Given the description of an element on the screen output the (x, y) to click on. 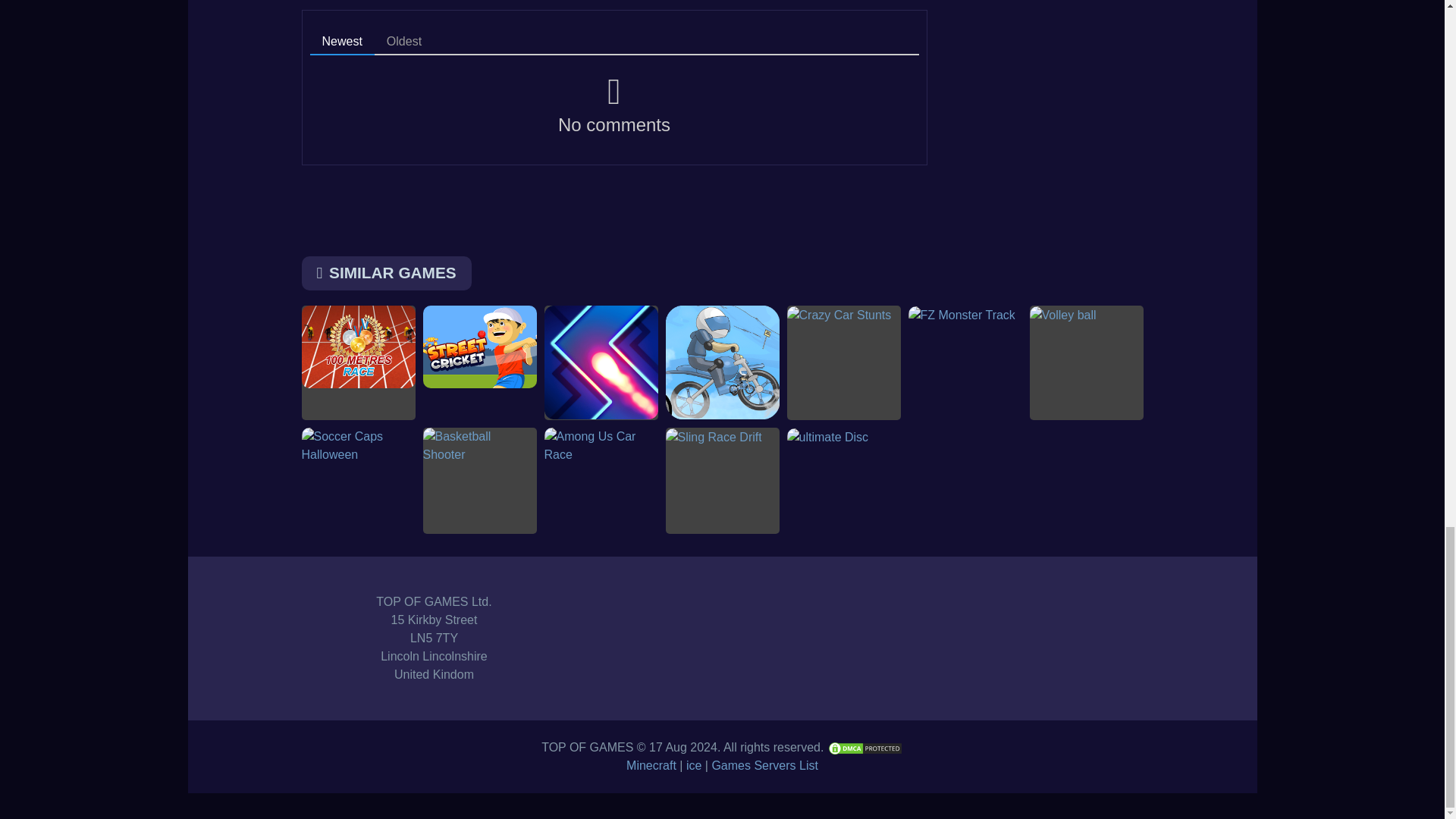
ice (693, 765)
Games Servers List (763, 765)
Minecraft (651, 765)
DMCA.com Protection Status (864, 747)
